Given the description of an element on the screen output the (x, y) to click on. 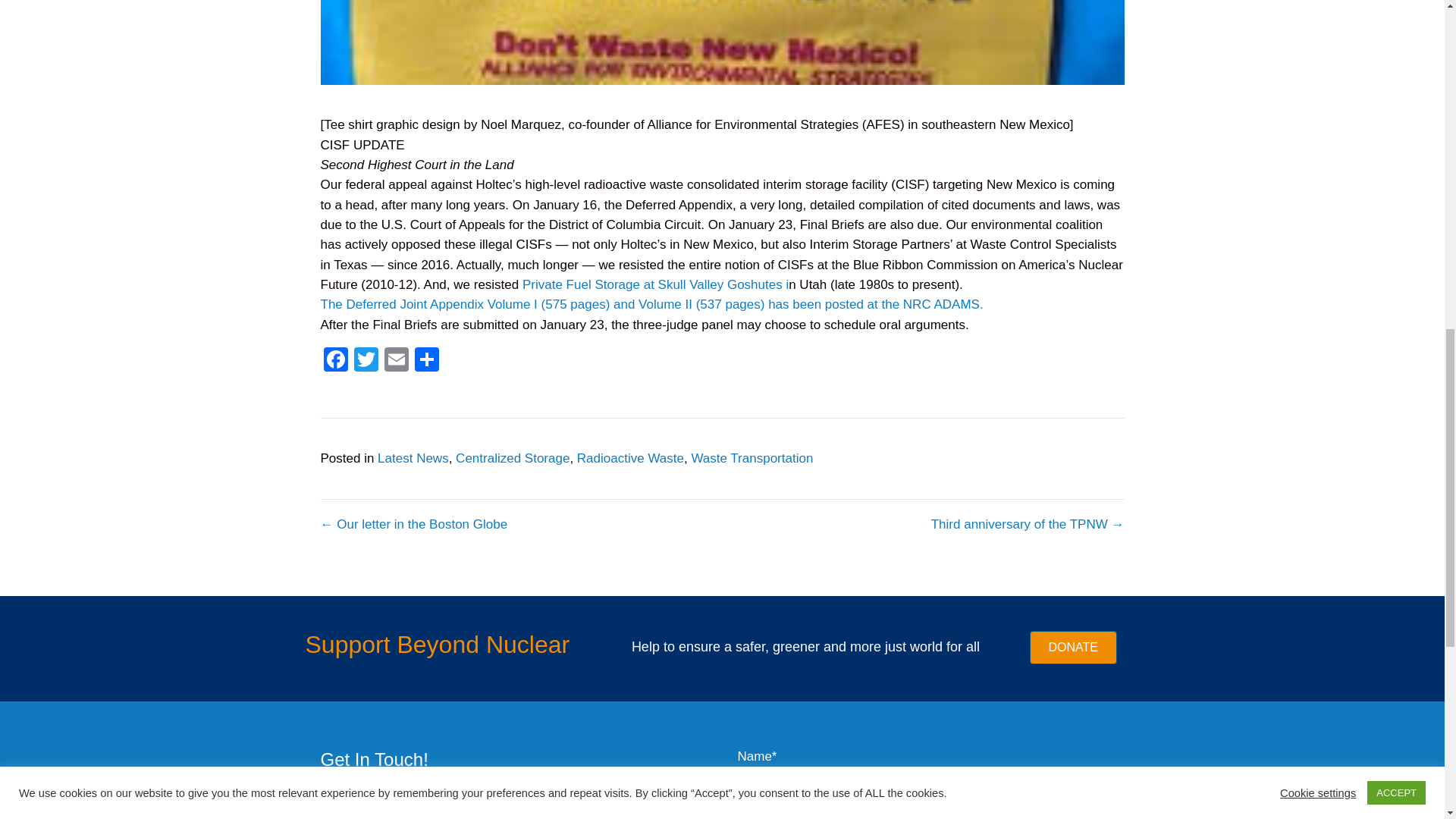
Share (425, 361)
Centralized Storage (512, 458)
Radioactive Waste (630, 458)
Latest News (412, 458)
Email (395, 361)
Waste Transportation (751, 458)
Facebook (335, 361)
Twitter (365, 361)
Twitter (365, 361)
Halt Holtec AFES tee shirt (722, 42)
Email (395, 361)
Facebook (335, 361)
Private Fuel Storage at Skull Valley Goshutes i (655, 284)
DONATE (1072, 647)
